Given the description of an element on the screen output the (x, y) to click on. 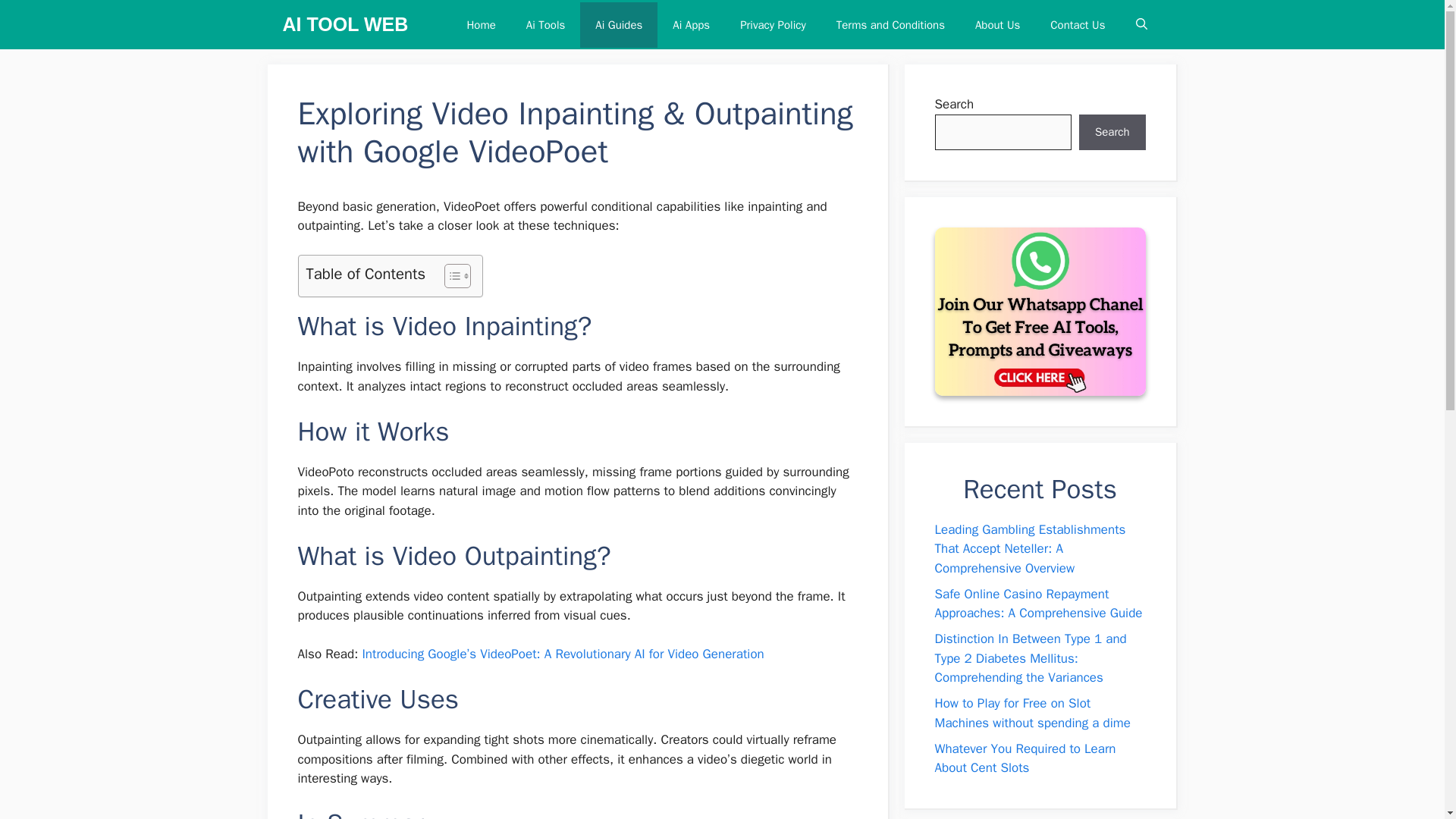
Terms and Conditions (890, 23)
AI TOOL WEB (344, 24)
Contact Us (1077, 23)
Search (1111, 131)
Home (481, 23)
Whatever You Required to Learn About Cent Slots (1024, 758)
About Us (997, 23)
Ai Tools (545, 23)
Ai Apps (691, 23)
Ai Guides (618, 23)
Privacy Policy (773, 23)
